Given the description of an element on the screen output the (x, y) to click on. 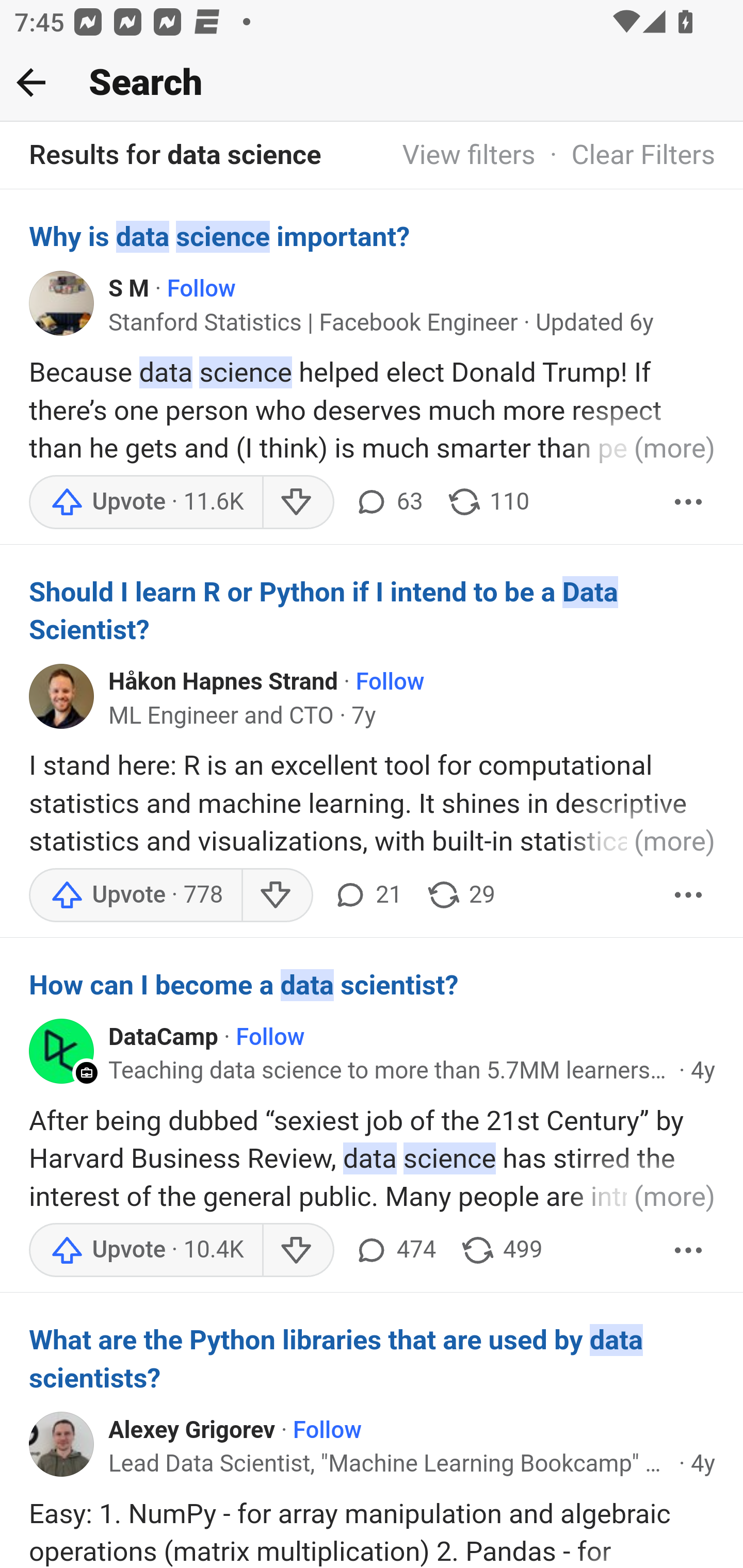
Back Search (371, 82)
Back (30, 82)
View filters (468, 155)
· Clear Filters · Clear Filters (625, 155)
Why is data science important? (372, 236)
Profile photo for S M (61, 302)
S M (128, 289)
Follow (201, 289)
Updated 6y Updated  6 y (594, 322)
Upvote (145, 501)
Downvote (298, 501)
63 comments (386, 501)
110 shares (487, 501)
More (688, 501)
Profile photo for Håkon Hapnes Strand (61, 696)
Håkon Hapnes Strand (223, 681)
Follow (389, 681)
7y 7 y (363, 714)
Upvote (135, 895)
Downvote (277, 895)
21 comments (366, 895)
29 shares (460, 895)
More (688, 895)
How can I become a data scientist? (372, 985)
DataCamp (163, 1037)
Follow (269, 1037)
4y 4 y (702, 1070)
Upvote (145, 1250)
Downvote (298, 1250)
474 comments (394, 1250)
499 shares (501, 1250)
More (688, 1250)
Profile photo for Alexey Grigorev (61, 1444)
Alexey Grigorev (192, 1430)
Follow (327, 1430)
4y 4 y (702, 1464)
